Given the description of an element on the screen output the (x, y) to click on. 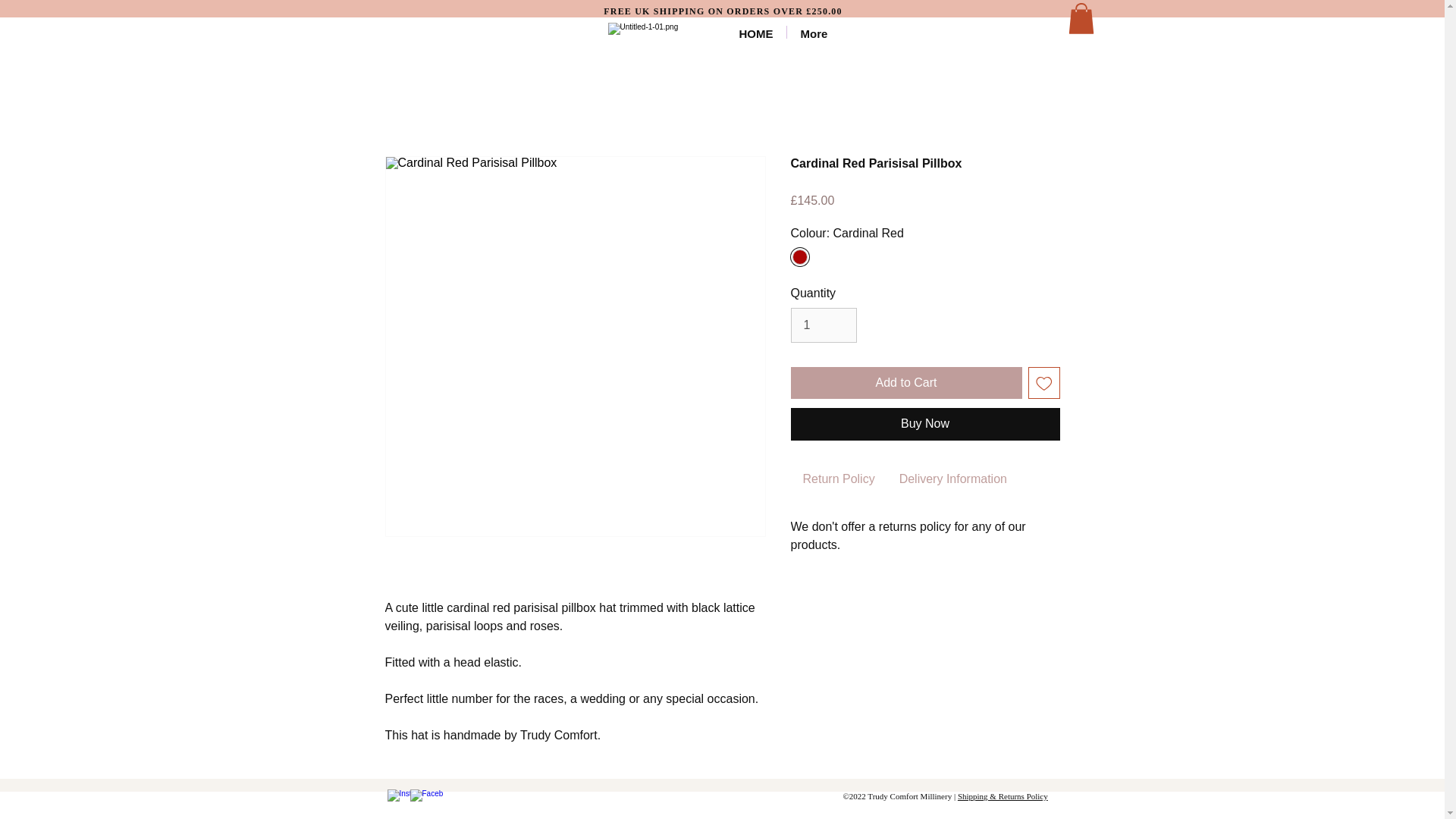
Buy Now (924, 423)
Use right and left arrows to navigate between tabs (838, 478)
1 (823, 325)
HOME (756, 31)
Use right and left arrows to navigate between tabs (952, 478)
Add to Cart (906, 382)
